Given the description of an element on the screen output the (x, y) to click on. 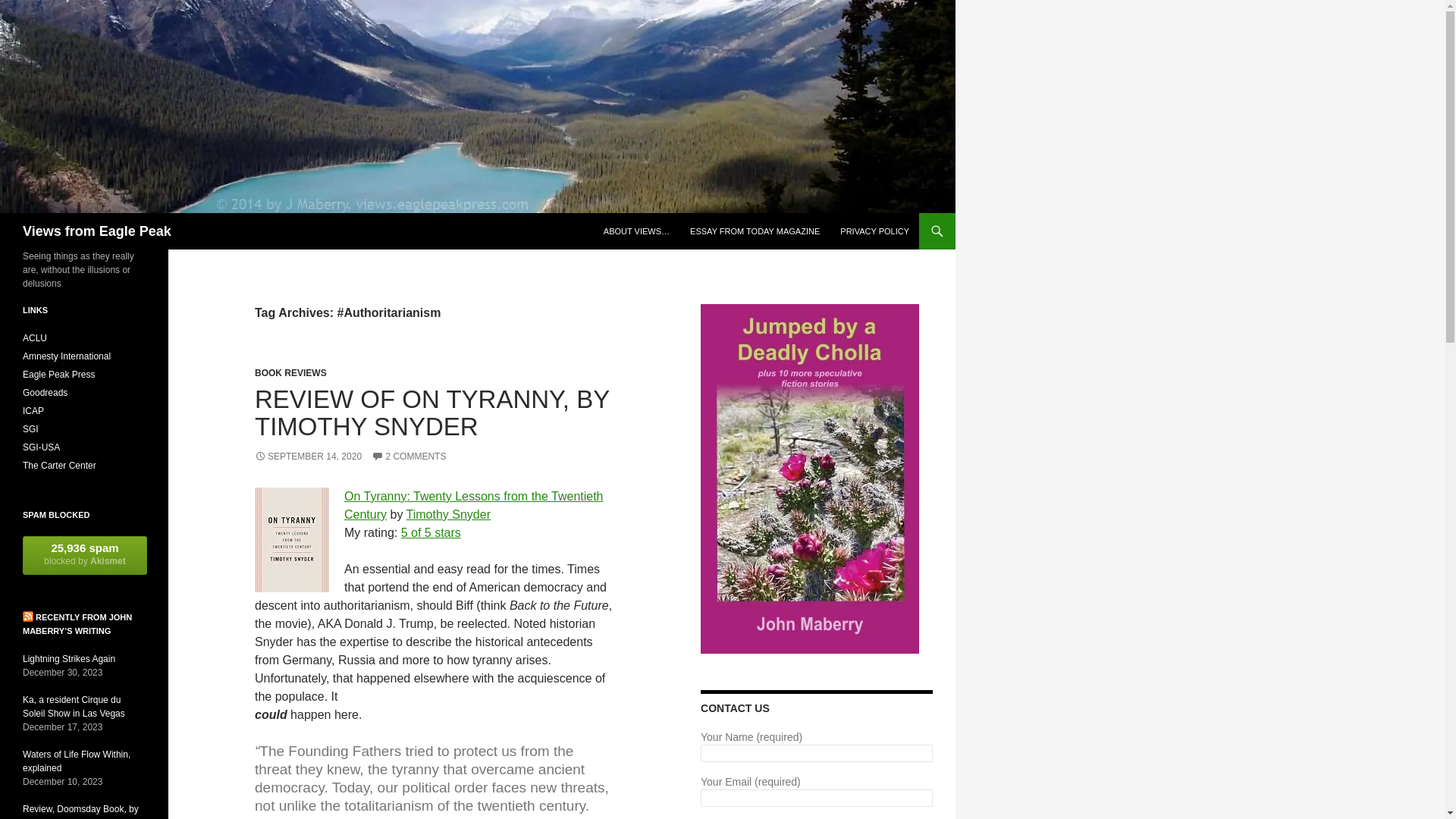
SEPTEMBER 14, 2020 (307, 456)
International Committee of Artists for Peace (33, 410)
2 COMMENTS (408, 456)
Enlightened publishing for common mortals (58, 374)
Views from Eagle Peak (97, 230)
5 of 5 stars (431, 532)
BOOK REVIEWS (290, 372)
What else? Good books to read (44, 392)
